Given the description of an element on the screen output the (x, y) to click on. 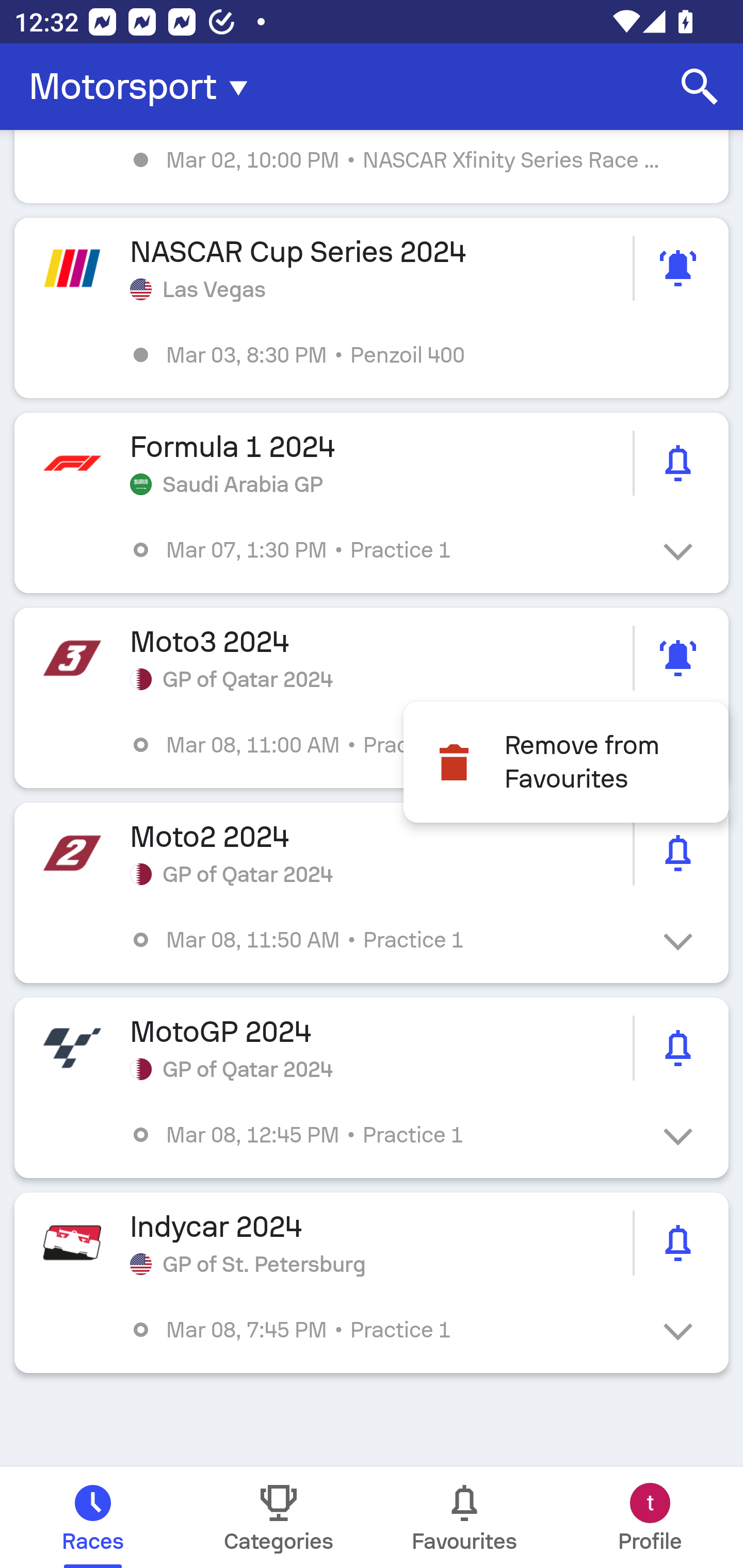
Remove from Favourites (565, 761)
